Given the description of an element on the screen output the (x, y) to click on. 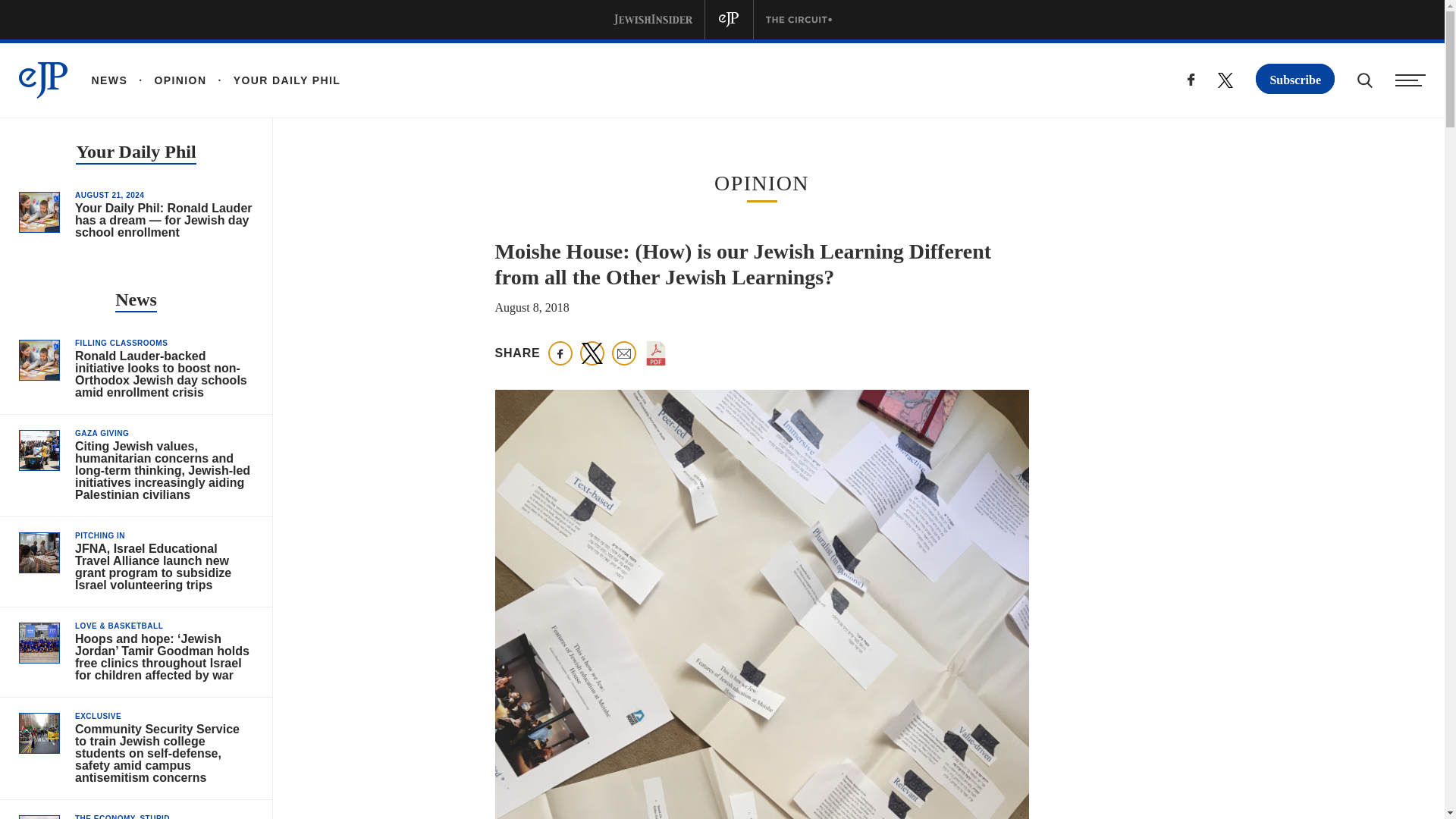
Your Daily Phil (135, 153)
Subscribe (1295, 78)
OPINION (167, 80)
NEWS (109, 80)
News (136, 301)
YOUR DAILY PHIL (273, 80)
